Given the description of an element on the screen output the (x, y) to click on. 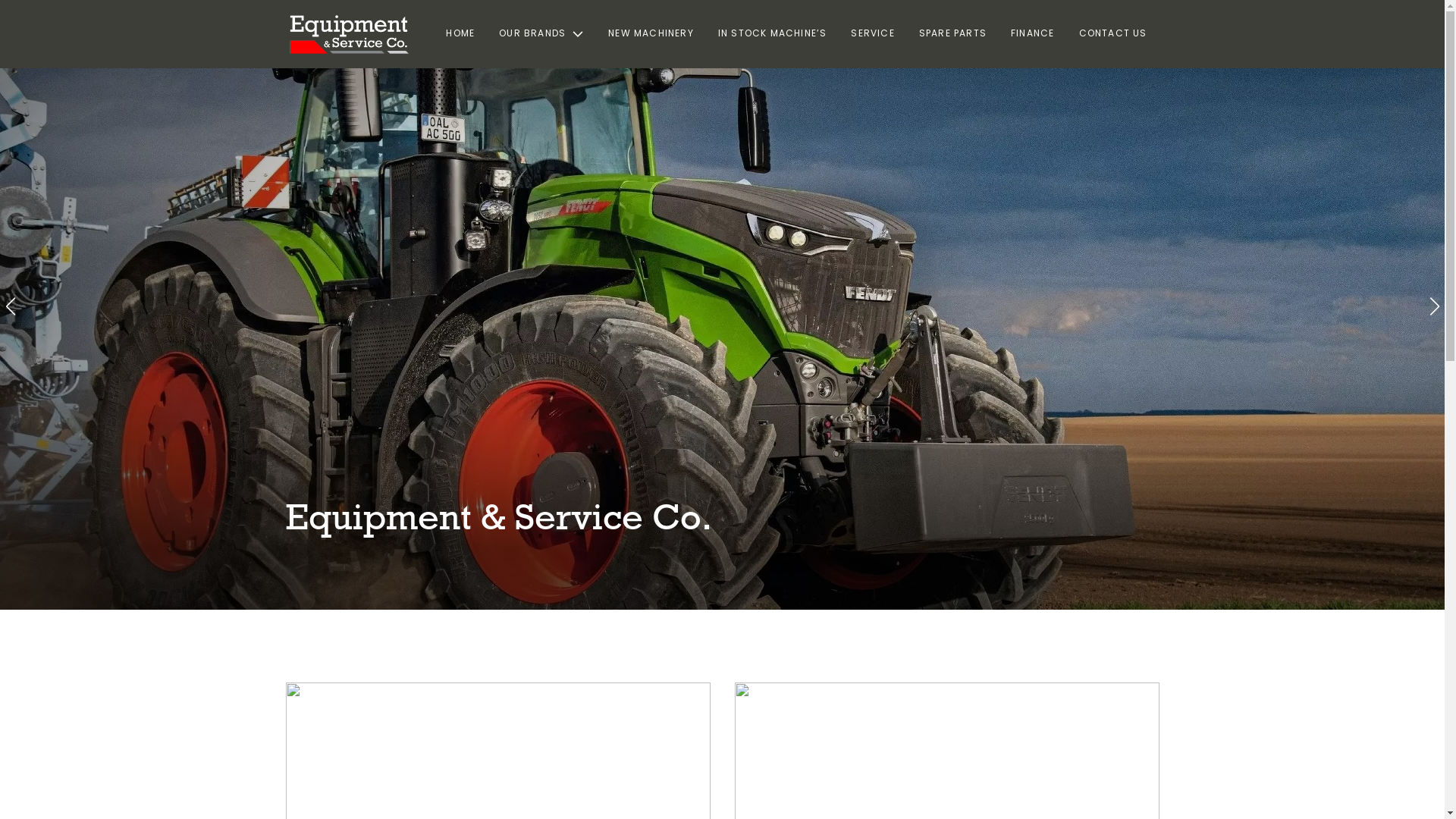
HOME Element type: text (459, 34)
SPARE PARTS Element type: text (952, 34)
SERVICE Element type: text (872, 34)
FINANCE Element type: text (1032, 34)
OUR BRANDS Element type: text (541, 34)
NEW MACHINERY Element type: text (651, 34)
CONTACT US Element type: text (1112, 34)
